Given the description of an element on the screen output the (x, y) to click on. 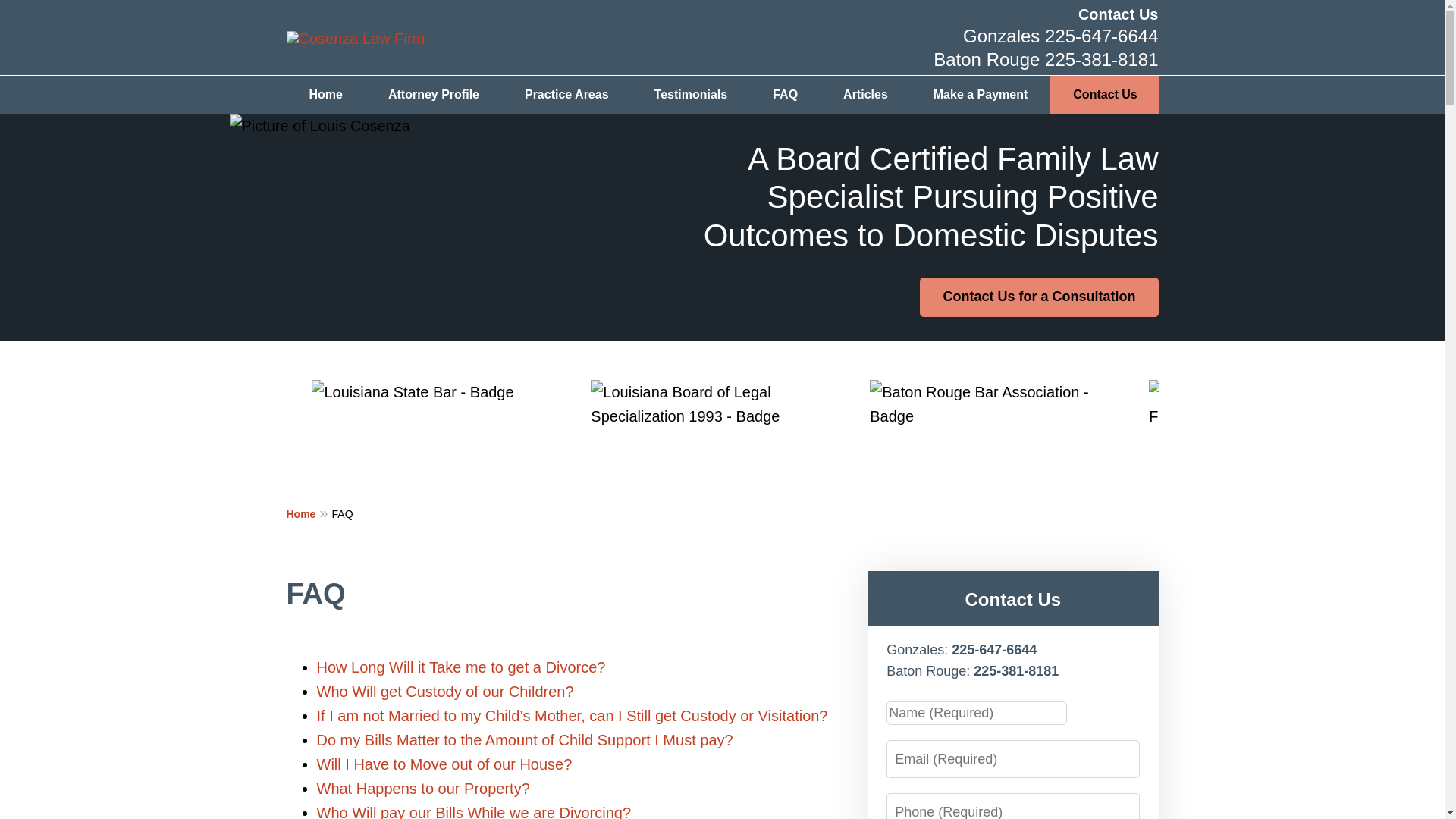
225-381-8181 (1101, 59)
Testimonials (691, 94)
Home (325, 94)
Articles (866, 94)
Attorney Profile (433, 94)
Contact Us (1118, 13)
Contact Us for a Consultation (1038, 296)
Make a Payment (981, 94)
225-647-6644 (1101, 35)
Practice Areas (566, 94)
Home (308, 513)
Contact Us (1103, 94)
How Long Will it Take me to get a Divorce? (461, 667)
Will I Have to Move out of our House? (444, 764)
FAQ (785, 94)
